Given the description of an element on the screen output the (x, y) to click on. 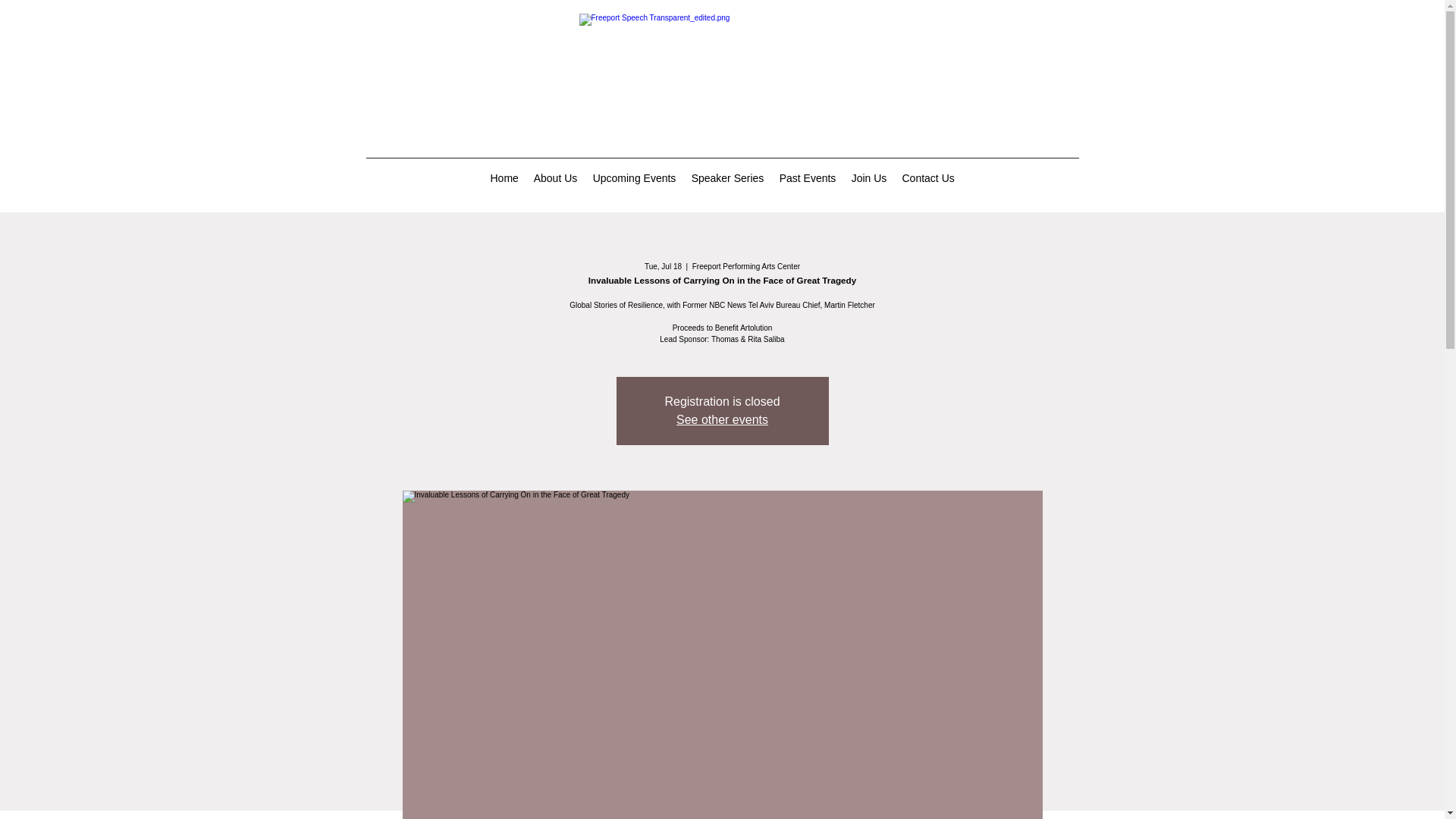
Join Us (868, 178)
Upcoming Events (634, 178)
Contact Us (928, 178)
See other events (722, 419)
Past Events (807, 178)
Home (503, 178)
